Given the description of an element on the screen output the (x, y) to click on. 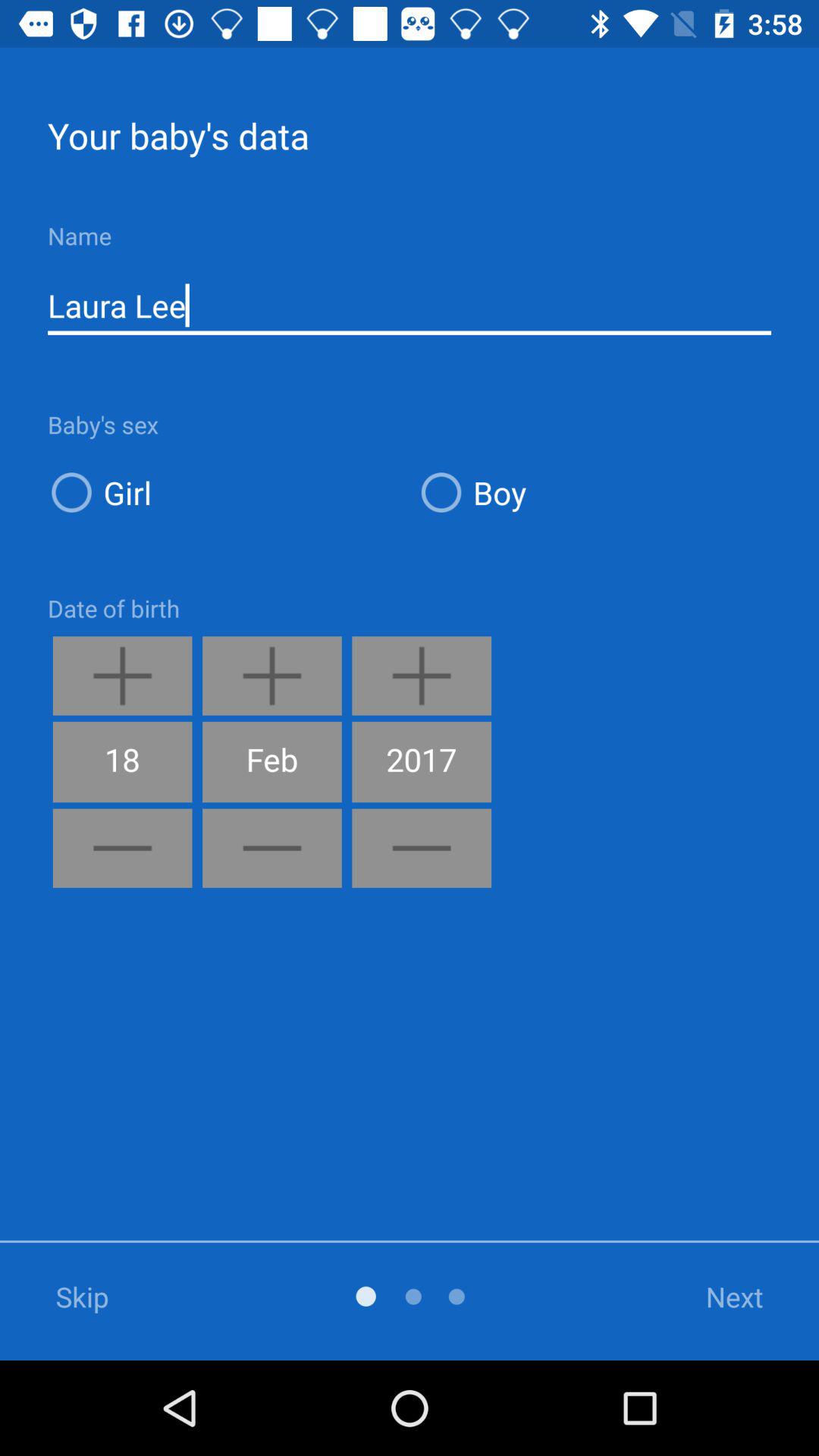
open item above date of birth (224, 492)
